Given the description of an element on the screen output the (x, y) to click on. 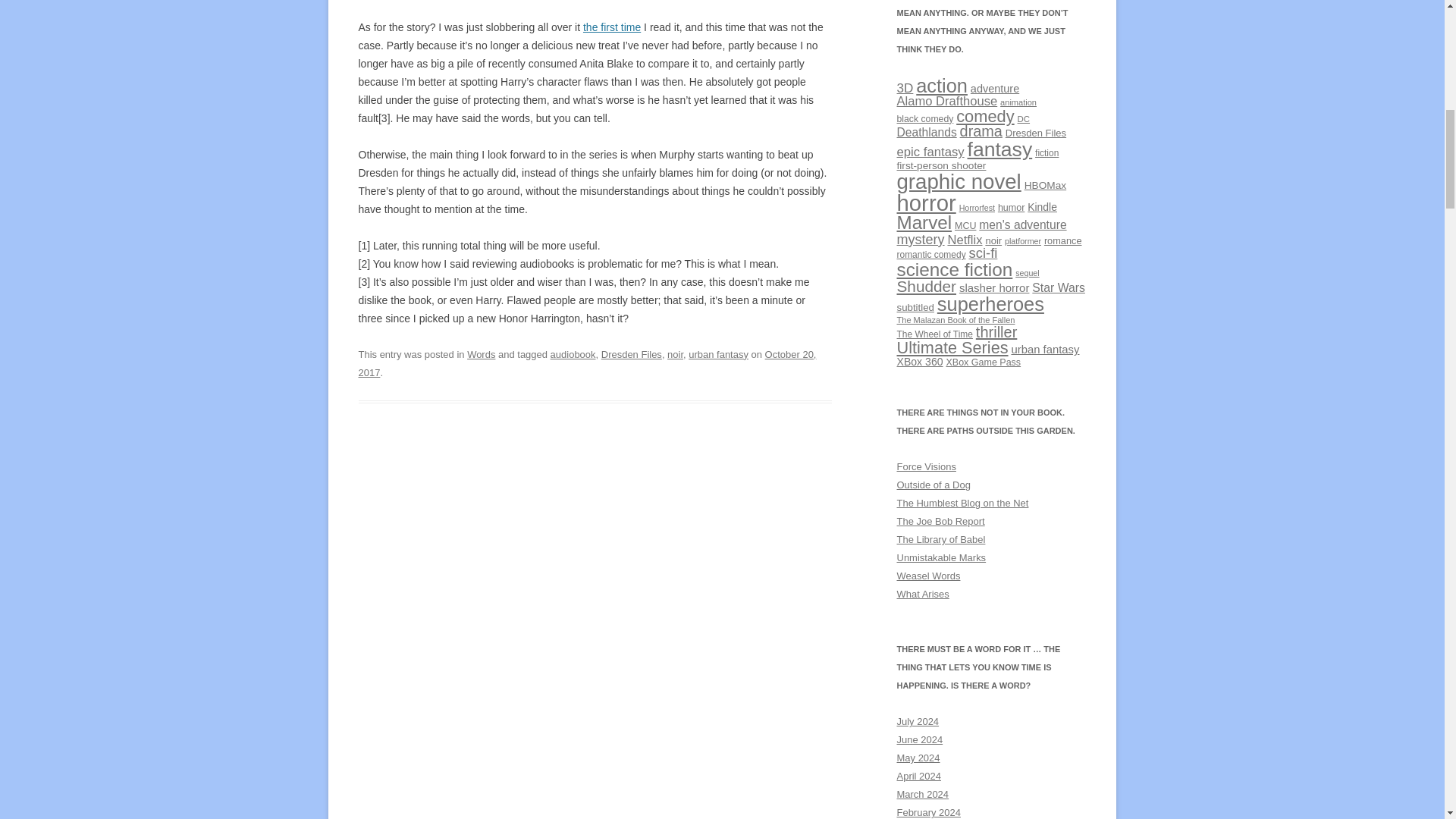
October 20, 2017 (586, 363)
Words (481, 354)
animation (1018, 102)
DC (1023, 118)
10:03 am (586, 363)
urban fantasy (718, 354)
Deathlands (926, 132)
audiobook (572, 354)
the first time (611, 27)
comedy (984, 116)
3D (904, 88)
drama (981, 130)
Alamo Drafthouse (946, 101)
